Given the description of an element on the screen output the (x, y) to click on. 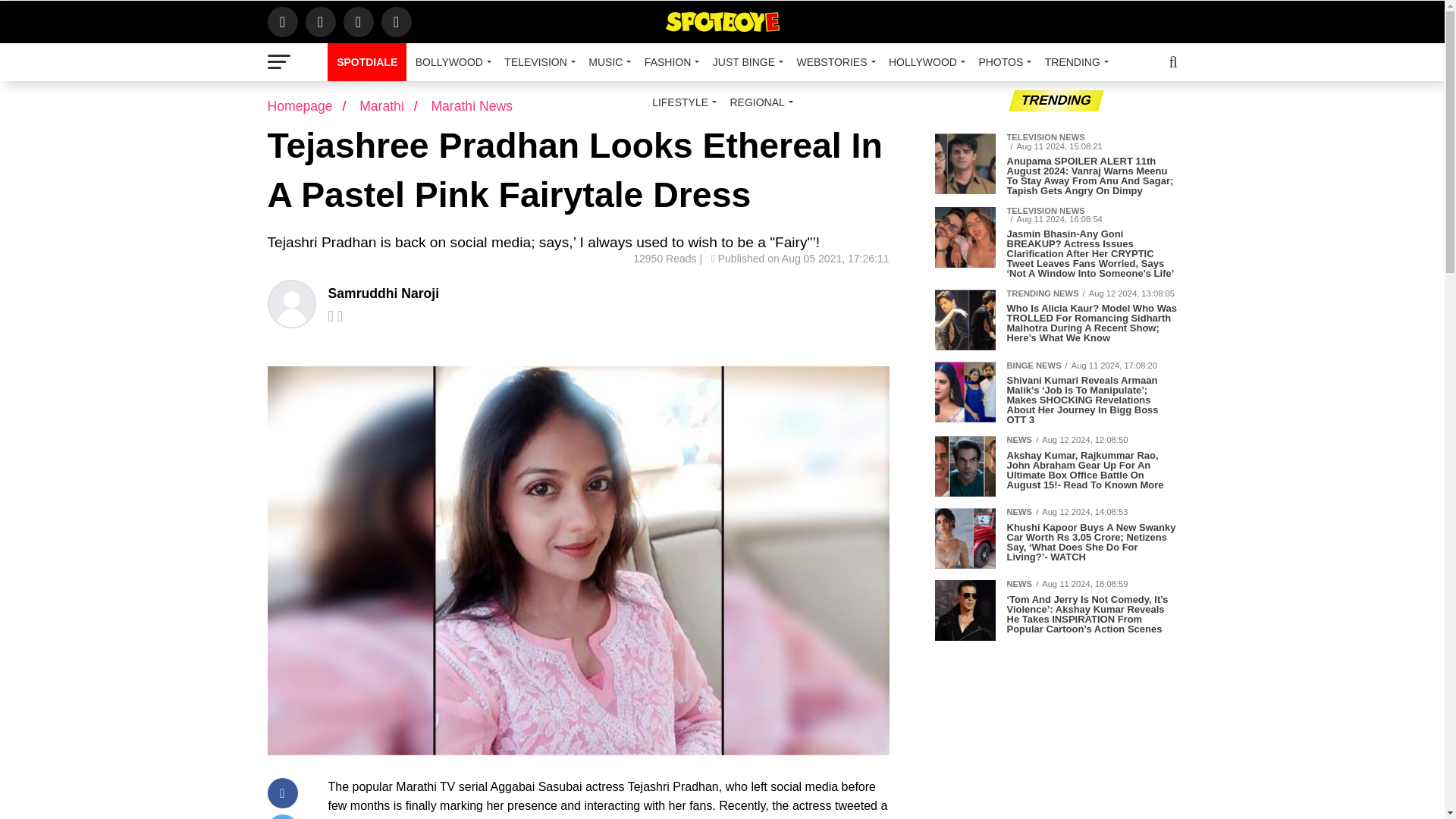
WEBSTORIES (833, 62)
FASHION (668, 62)
SPOTDIALE (366, 62)
REGIONAL (758, 102)
Posts by  Samruddhi Naroji  (383, 293)
HOLLYWOOD (924, 62)
BOLLYWOOD (451, 62)
TRENDING (1074, 62)
PHOTOS (1002, 62)
LIFESTYLE (681, 102)
